Given the description of an element on the screen output the (x, y) to click on. 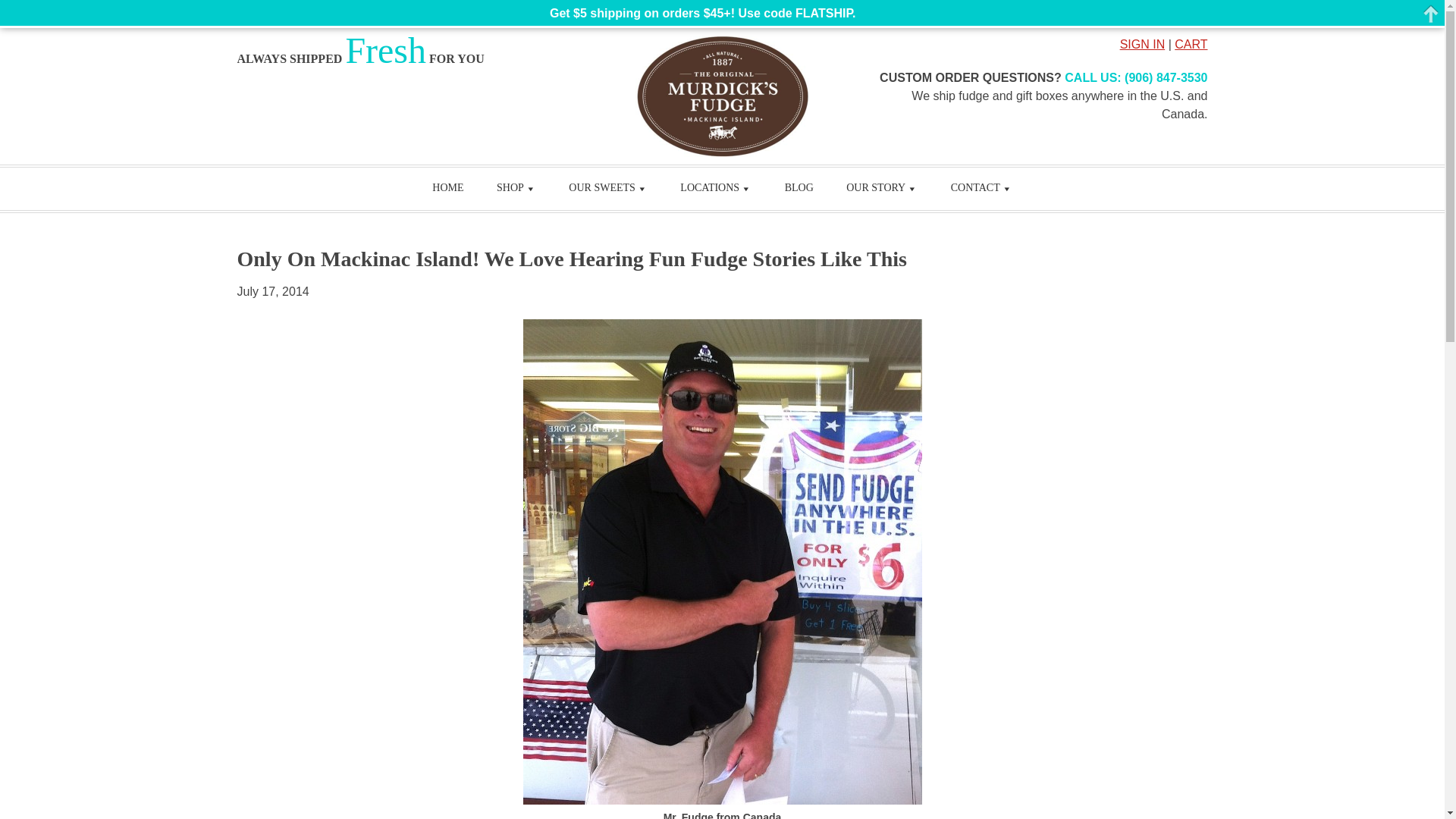
CONTACT (981, 188)
BLOG (799, 187)
LOCATIONS (716, 188)
SHOP (516, 188)
OUR SWEETS (607, 188)
HOME (447, 187)
CART (1190, 43)
SIGN IN (1142, 43)
OUR STORY (882, 188)
Original Murdick's Fudge (721, 96)
